Given the description of an element on the screen output the (x, y) to click on. 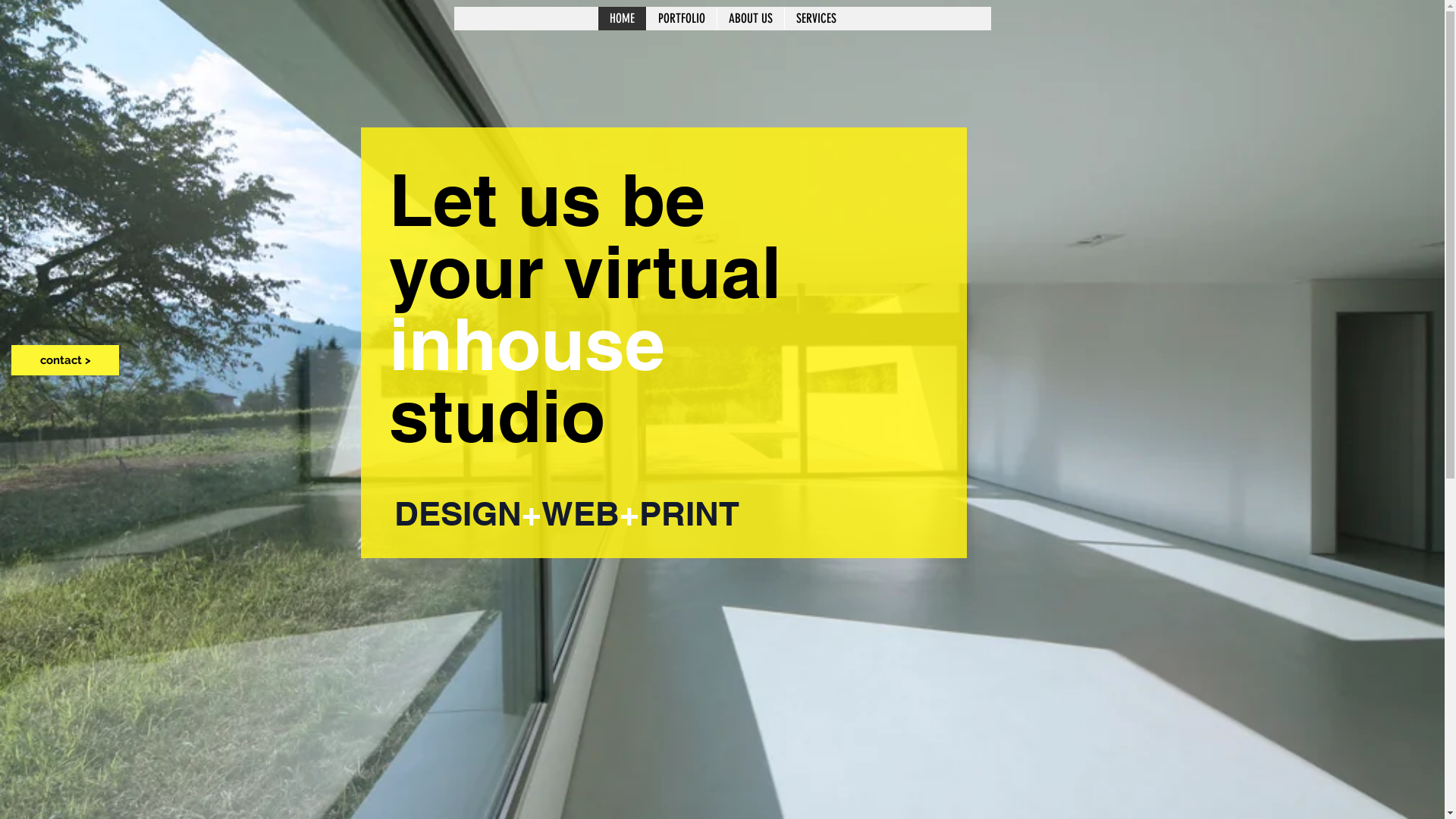
HOME Element type: text (621, 18)
SERVICES Element type: text (815, 18)
PORTFOLIO Element type: text (681, 18)
contact > Element type: text (65, 360)
ABOUT US Element type: text (749, 18)
